Given the description of an element on the screen output the (x, y) to click on. 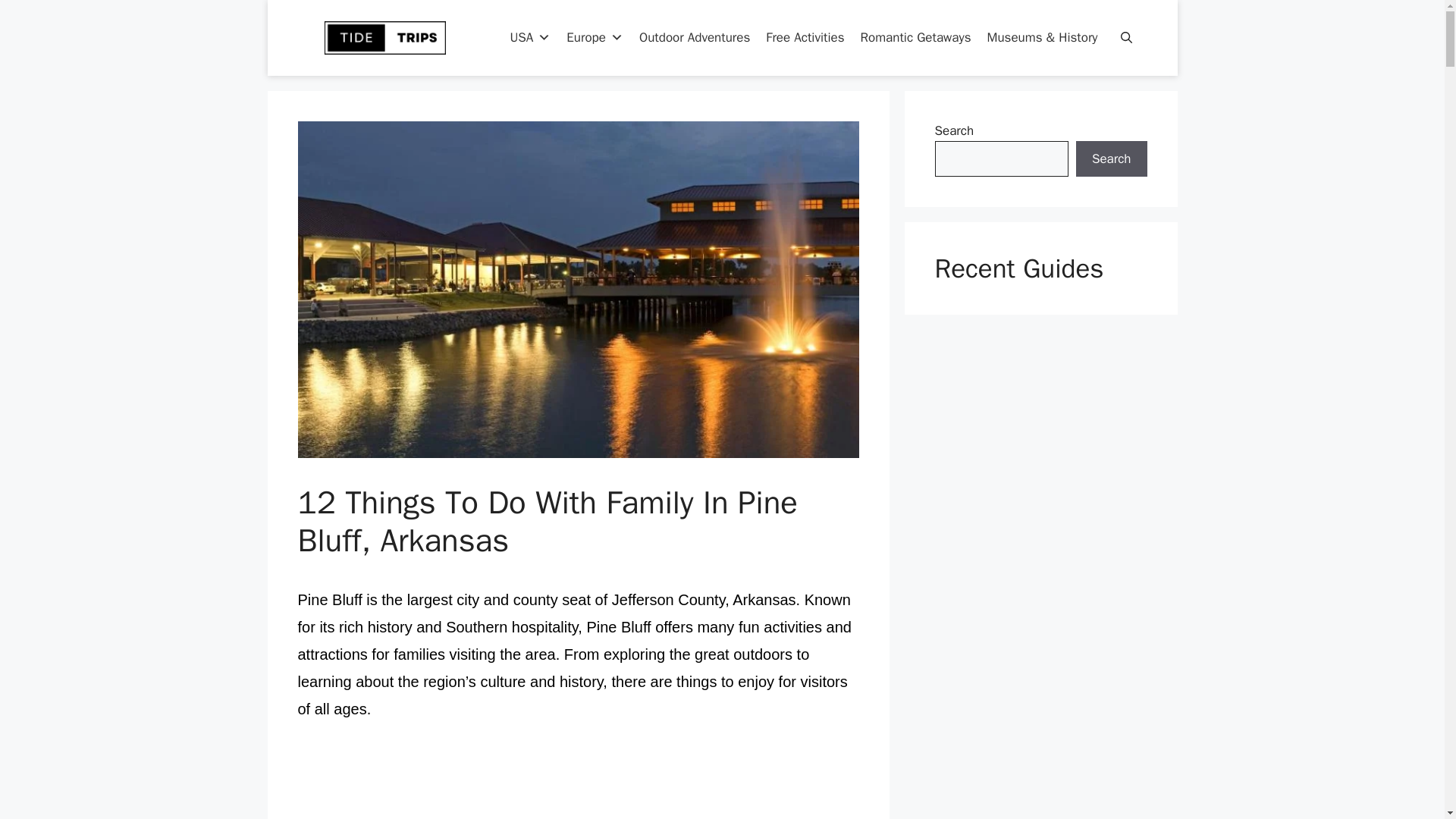
USA (529, 37)
Advertisement (578, 782)
